Given the description of an element on the screen output the (x, y) to click on. 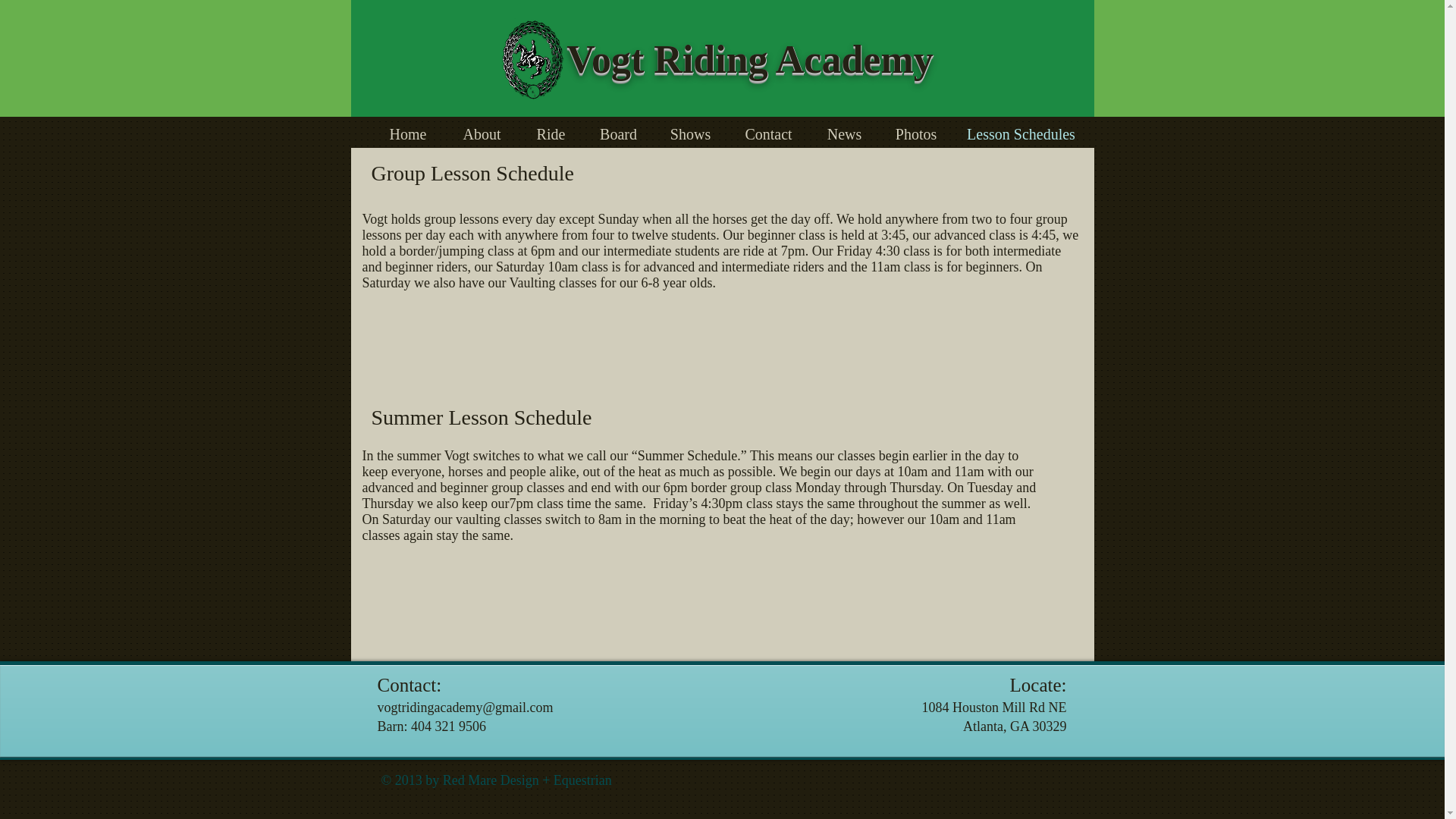
Shows (689, 134)
Home (408, 134)
Board (617, 134)
Contact (767, 134)
Ride (550, 134)
Lesson Schedules (1021, 134)
News (843, 134)
About (481, 134)
Photos (915, 134)
